Given the description of an element on the screen output the (x, y) to click on. 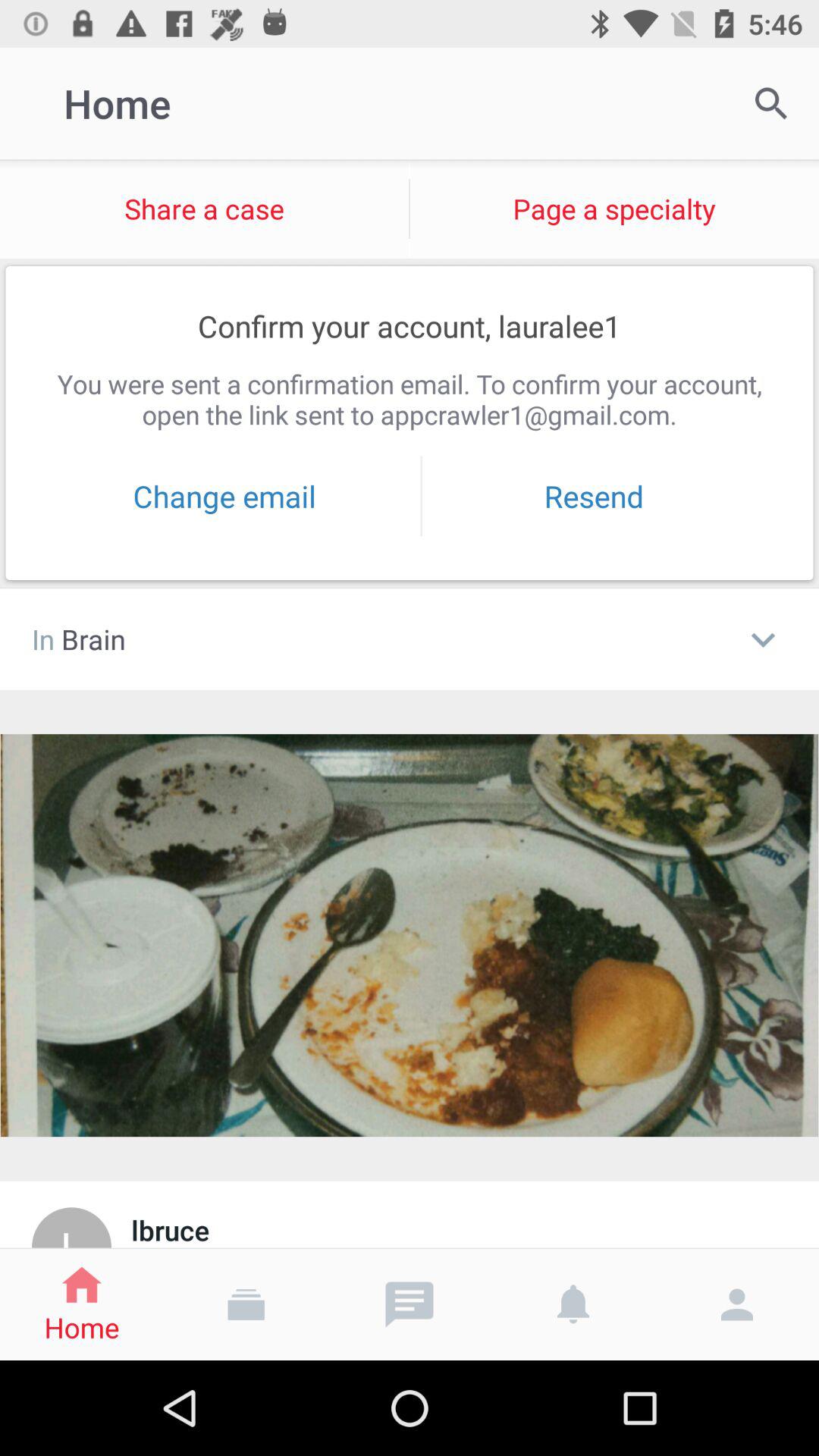
click the icon below you were sent (224, 496)
